Given the description of an element on the screen output the (x, y) to click on. 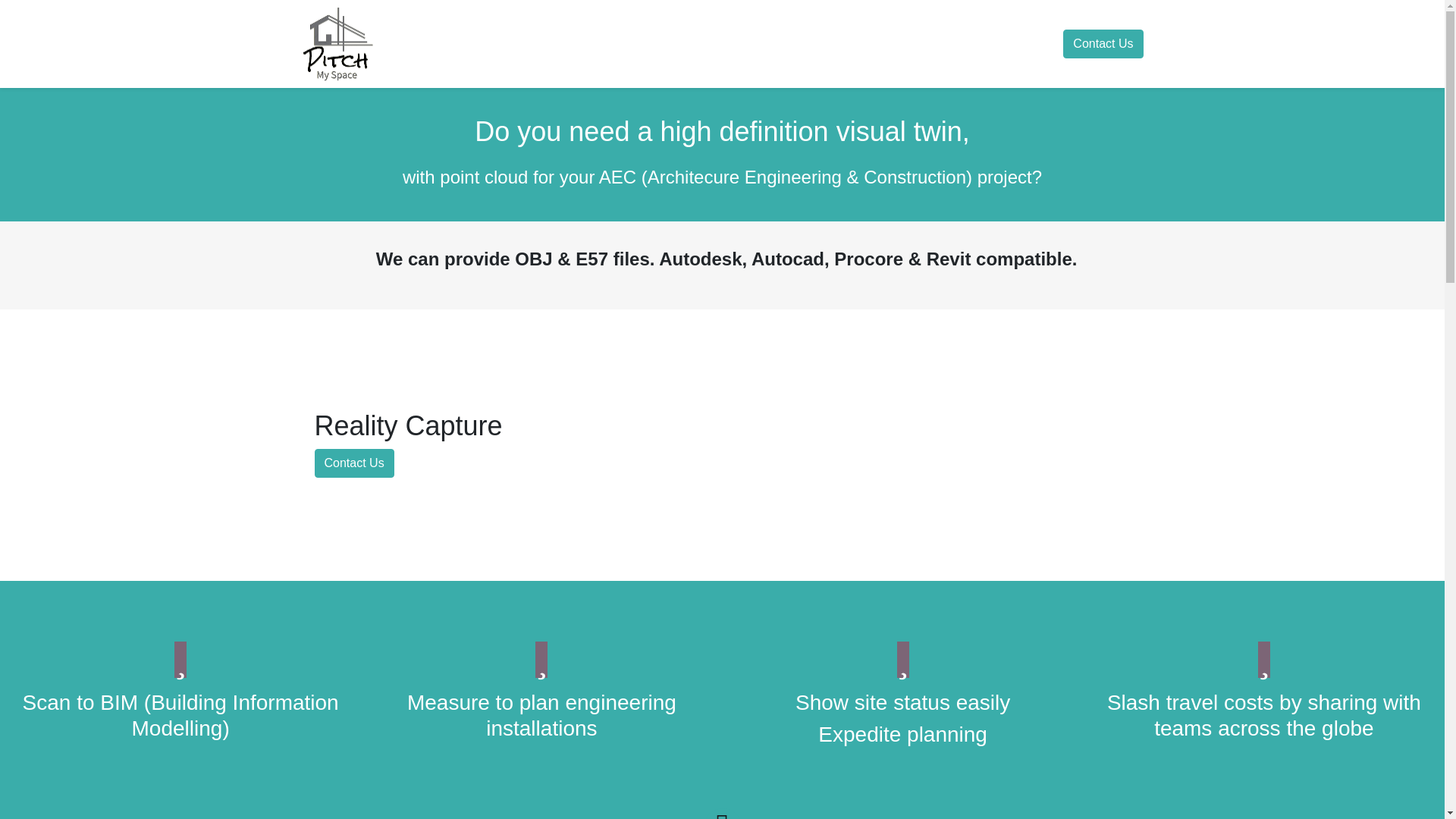
Contact Us (1102, 43)
Contact Us (353, 462)
